Given the description of an element on the screen output the (x, y) to click on. 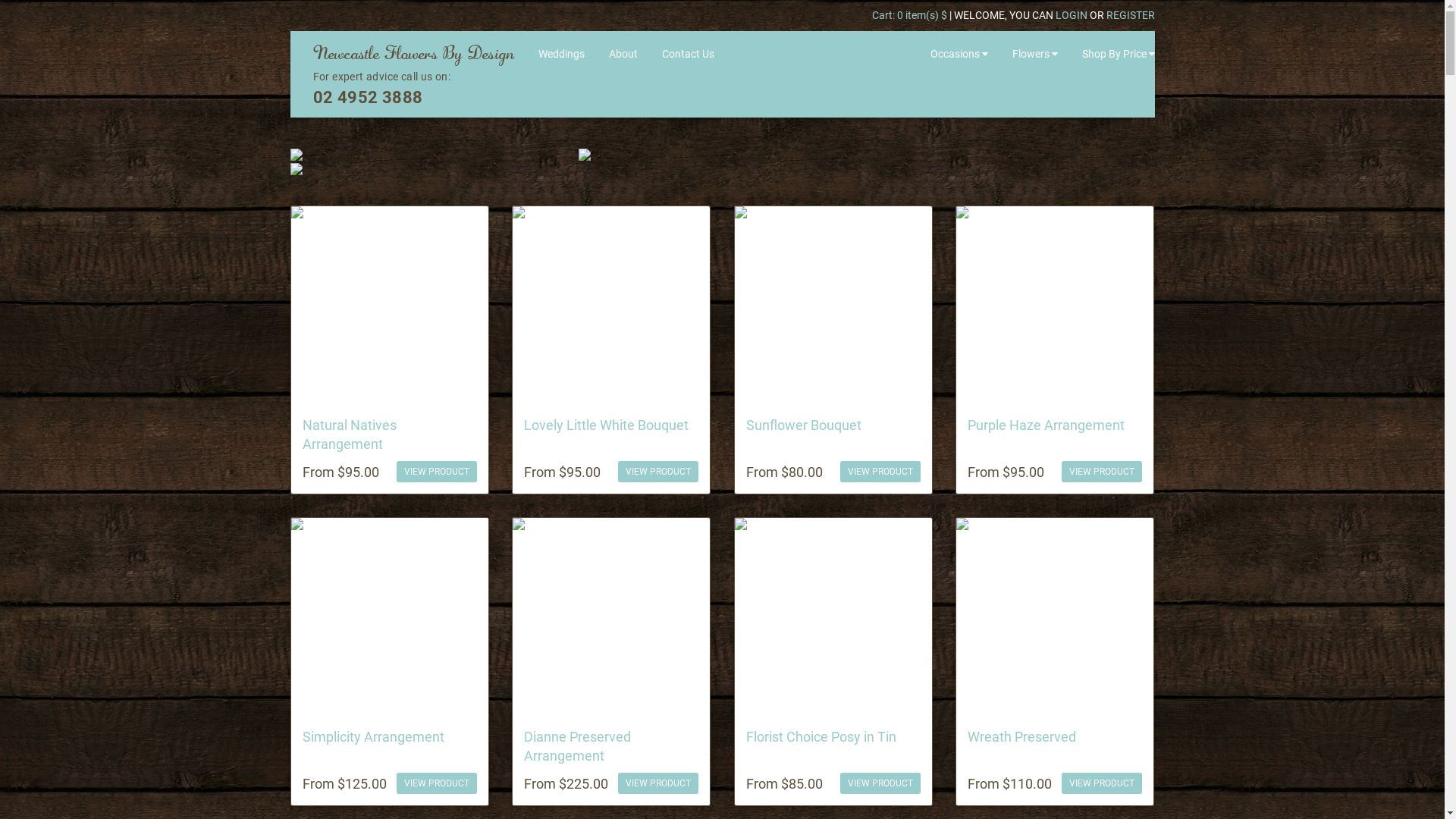
Cart: 0 item(s) $ Element type: text (910, 15)
VIEW PRODUCT Element type: text (658, 782)
VIEW PRODUCT Element type: text (658, 471)
LOGIN Element type: text (1071, 15)
VIEW PRODUCT Element type: text (880, 471)
Shop By Price Element type: text (1118, 53)
VIEW PRODUCT Element type: text (436, 782)
Newcastle Flowers By Design Element type: text (413, 53)
Lovely Little White Bouquet Element type: text (605, 425)
Sunflower Bouquet Element type: text (803, 425)
Natural Natives Arrangement Element type: text (348, 434)
Wreath Preserved Element type: text (1021, 735)
Florist Choice Posy in Tin Element type: text (821, 735)
About Element type: text (623, 53)
REGISTER Element type: text (1129, 15)
Occasions Element type: text (959, 53)
VIEW PRODUCT Element type: text (1101, 782)
Dianne Preserved Arrangement Element type: text (576, 745)
Simplicity Arrangement Element type: text (372, 735)
Weddings Element type: text (561, 53)
VIEW PRODUCT Element type: text (1101, 471)
VIEW PRODUCT Element type: text (436, 471)
Purple Haze Arrangement Element type: text (1045, 425)
VIEW PRODUCT Element type: text (880, 782)
Flowers Element type: text (1035, 53)
Contact Us Element type: text (687, 53)
